Given the description of an element on the screen output the (x, y) to click on. 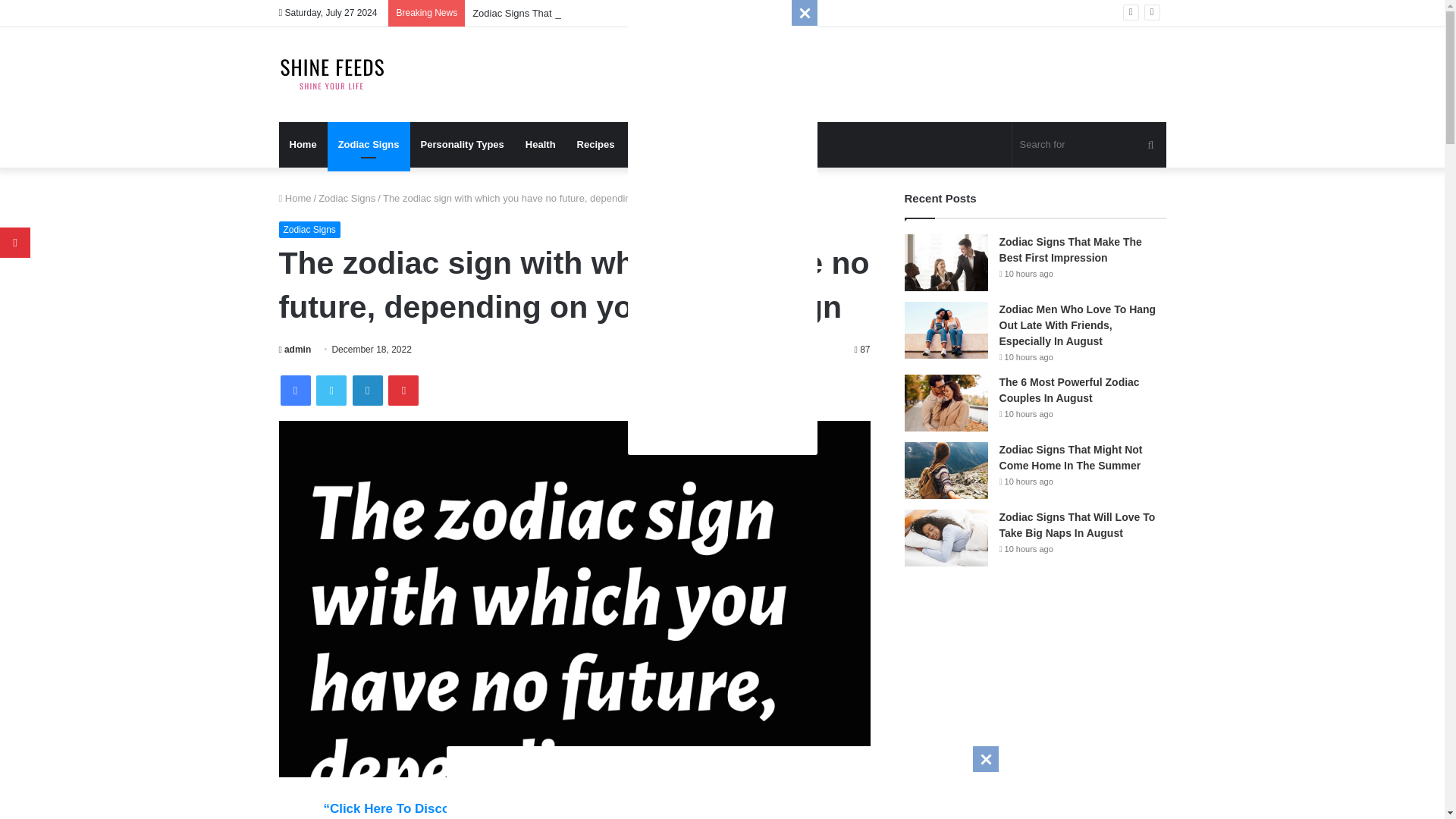
admin (295, 348)
Personality Types (462, 144)
Facebook (296, 390)
Pinterest (403, 390)
Twitter (330, 390)
LinkedIn (367, 390)
Search for (1088, 144)
Zodiac Signs That Might Not Come Home In The Summer (598, 12)
LinkedIn (367, 390)
Zodiac Signs (346, 197)
Zodiac Signs (368, 144)
Zodiac Signs (309, 229)
Recipes (596, 144)
Search for (1150, 144)
Advertisement (721, 227)
